Given the description of an element on the screen output the (x, y) to click on. 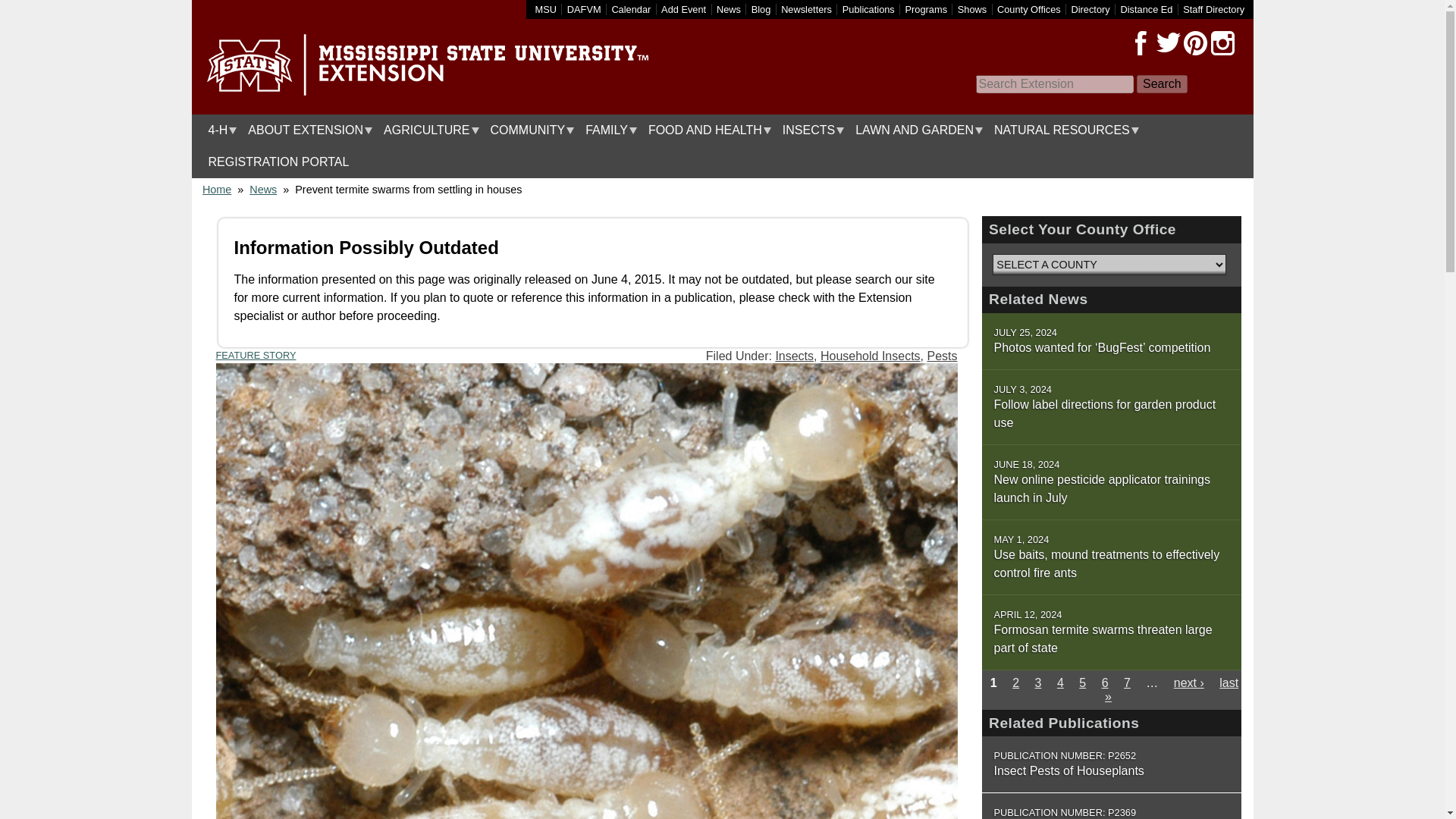
News (728, 9)
Newsletters (805, 9)
4-H (218, 130)
The main event calendar for the MSU Extension Service (630, 9)
Shows (972, 9)
MSU (545, 9)
